Given the description of an element on the screen output the (x, y) to click on. 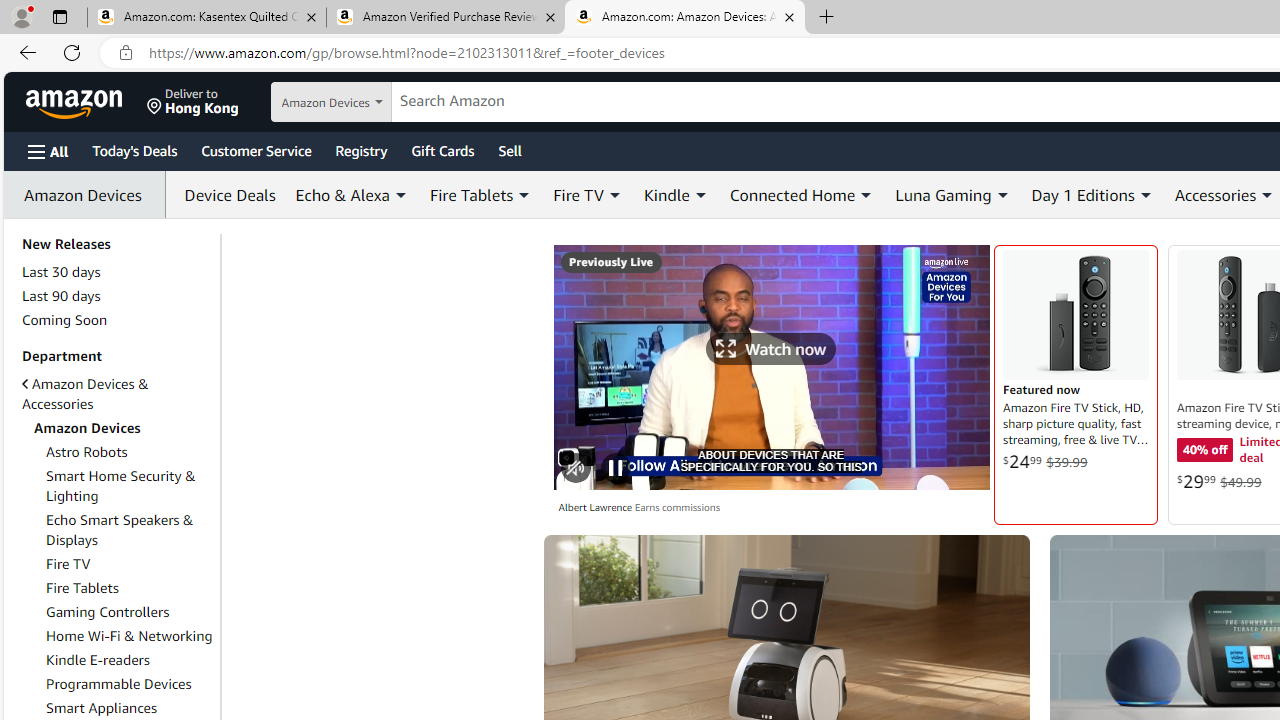
Astro Robots (129, 452)
Day 1 Editions (1082, 194)
